Given the description of an element on the screen output the (x, y) to click on. 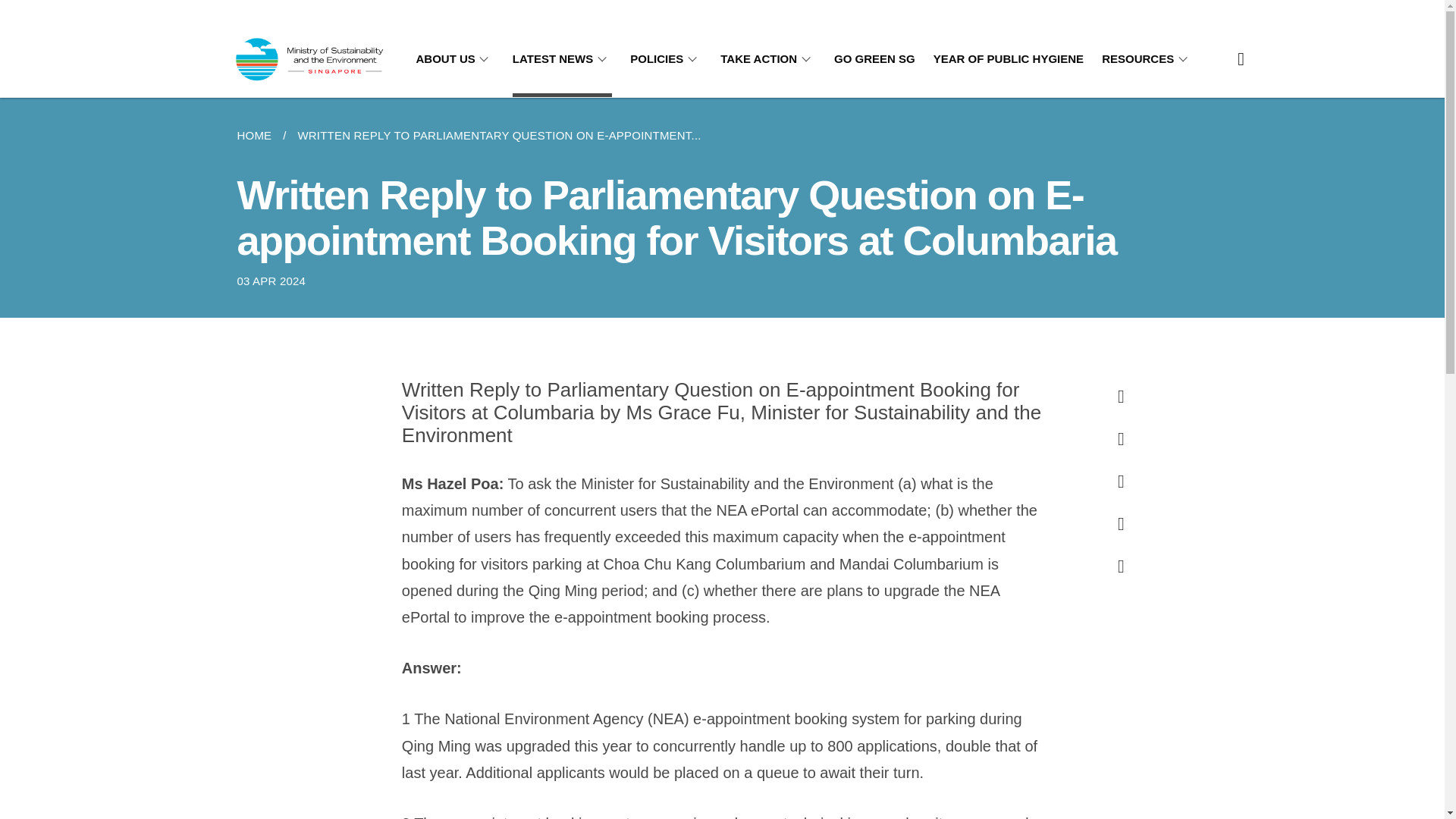
TAKE ACTION (767, 59)
RESOURCES (1147, 59)
LATEST NEWS (561, 59)
ABOUT US (453, 59)
GO GREEN SG (874, 59)
POLICIES (665, 59)
YEAR OF PUBLIC HYGIENE (1008, 59)
